Given the description of an element on the screen output the (x, y) to click on. 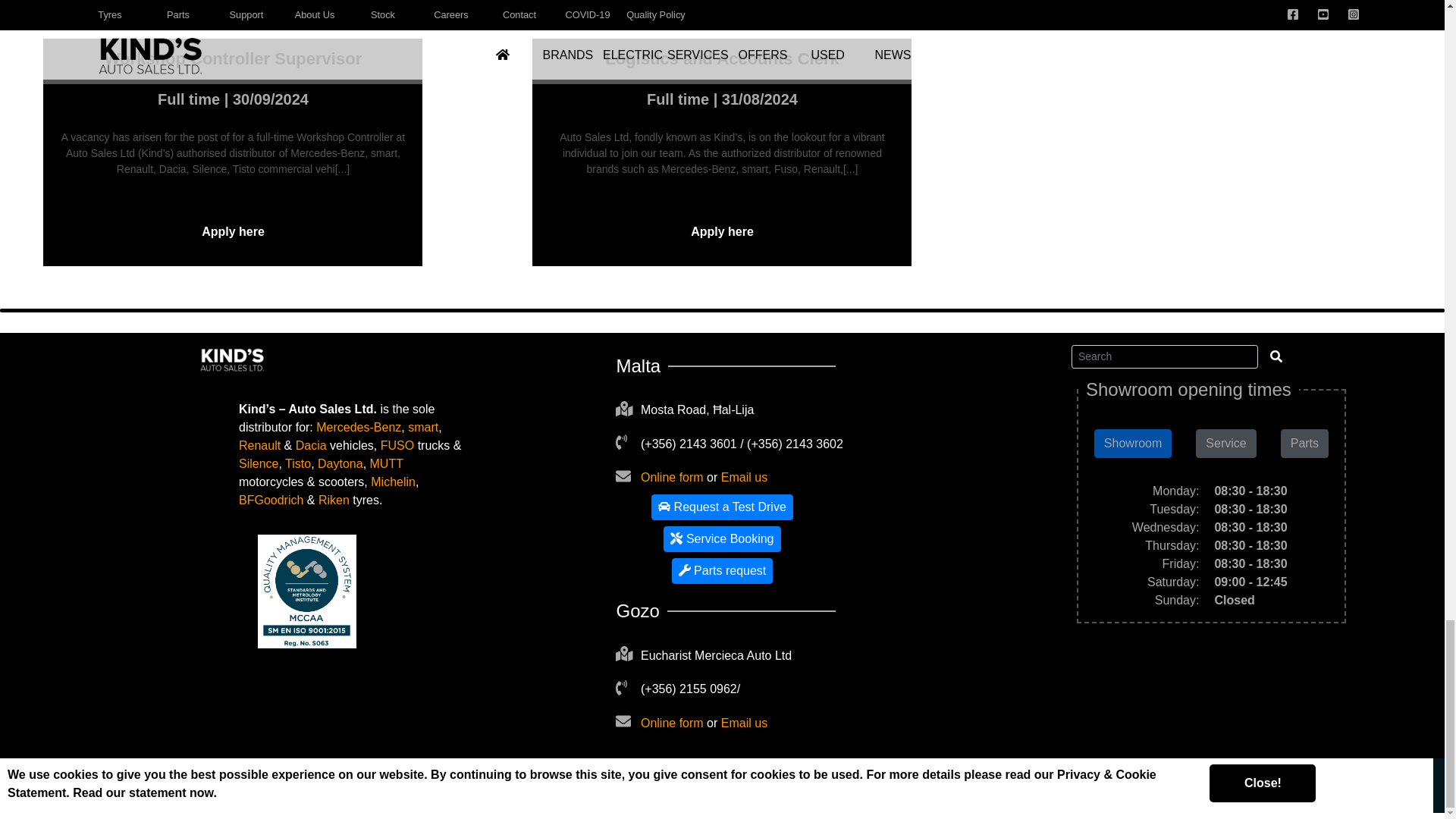
Dacia (310, 445)
Tisto (298, 463)
Apply here (232, 231)
FUSO (396, 445)
smart (422, 427)
Silence (258, 463)
Mercedes-Benz (358, 427)
Apply here (721, 231)
Renault (259, 445)
